Given the description of an element on the screen output the (x, y) to click on. 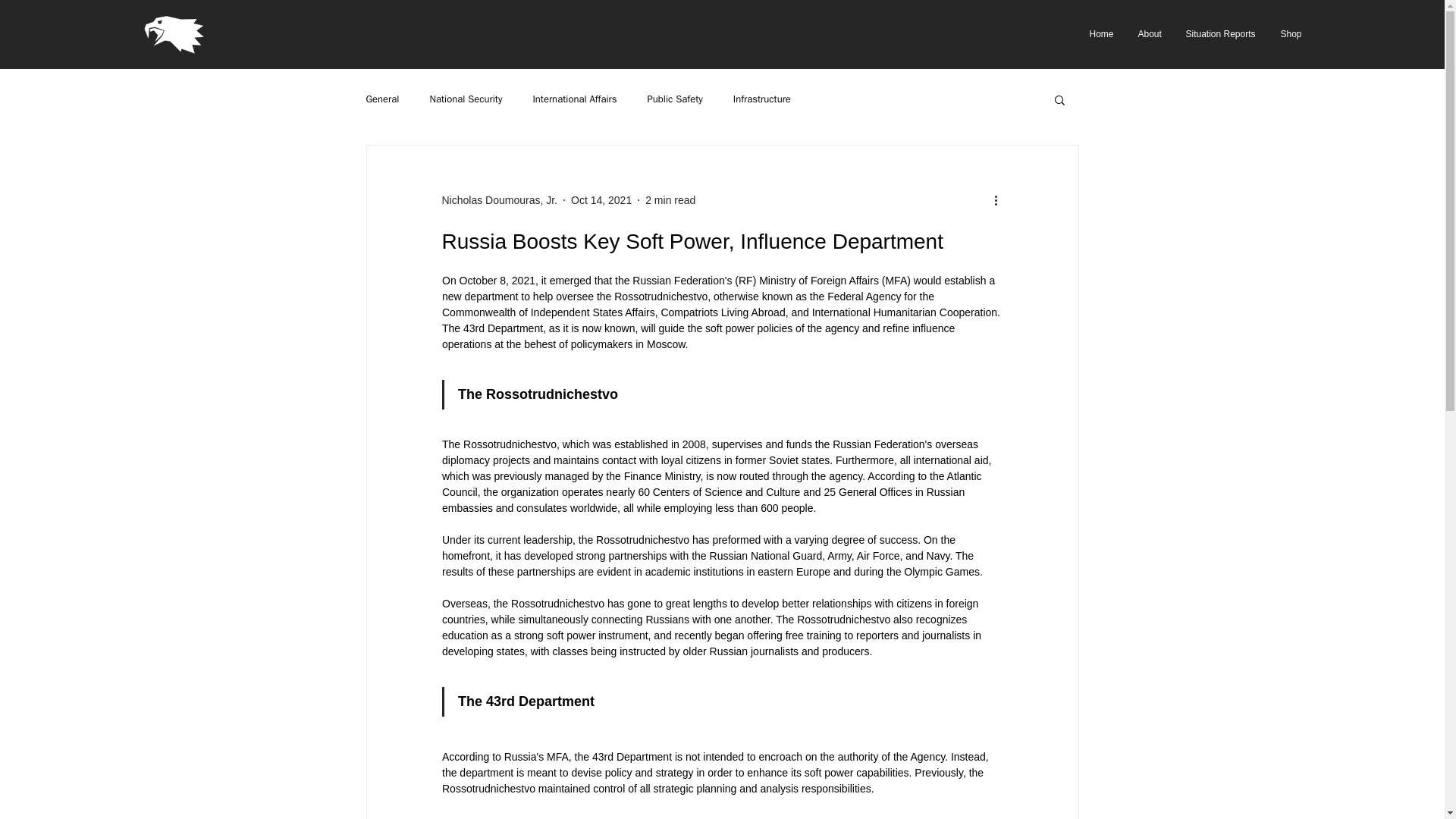
Infrastructure (761, 99)
Situation Reports (1220, 34)
Nicholas Doumouras, Jr. (499, 200)
Shop (1291, 34)
National Security (465, 99)
International Affairs (573, 99)
Public Safety (675, 99)
Oct 14, 2021 (600, 200)
2 min read (670, 200)
General (381, 99)
Home (1102, 34)
Nicholas Doumouras, Jr. (499, 200)
About (1150, 34)
